Given the description of an element on the screen output the (x, y) to click on. 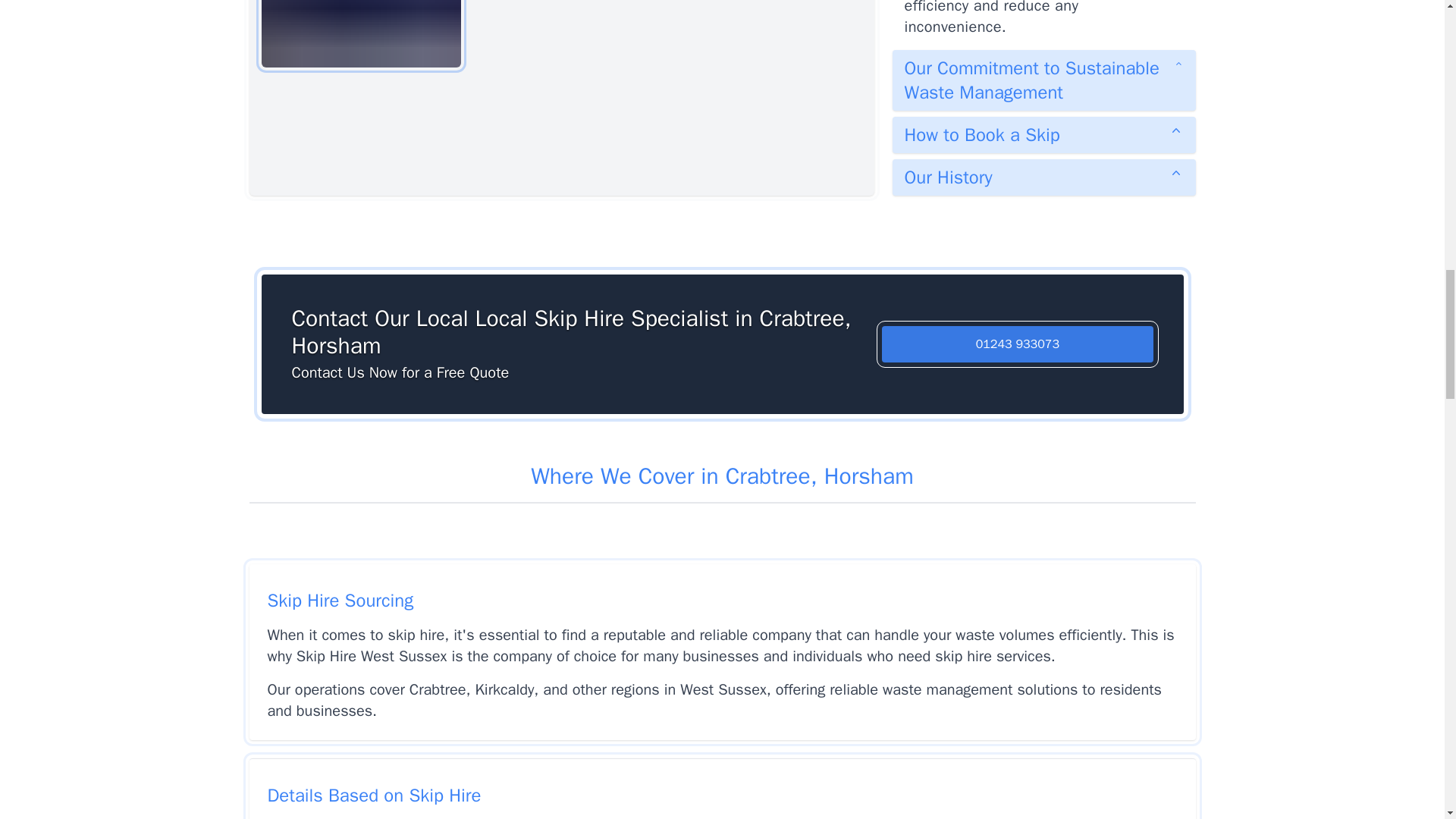
How to Book a Skip (1043, 135)
Our Commitment to Sustainable Waste Management (1043, 79)
01243 933073 (1017, 343)
Our History (1043, 176)
